Given the description of an element on the screen output the (x, y) to click on. 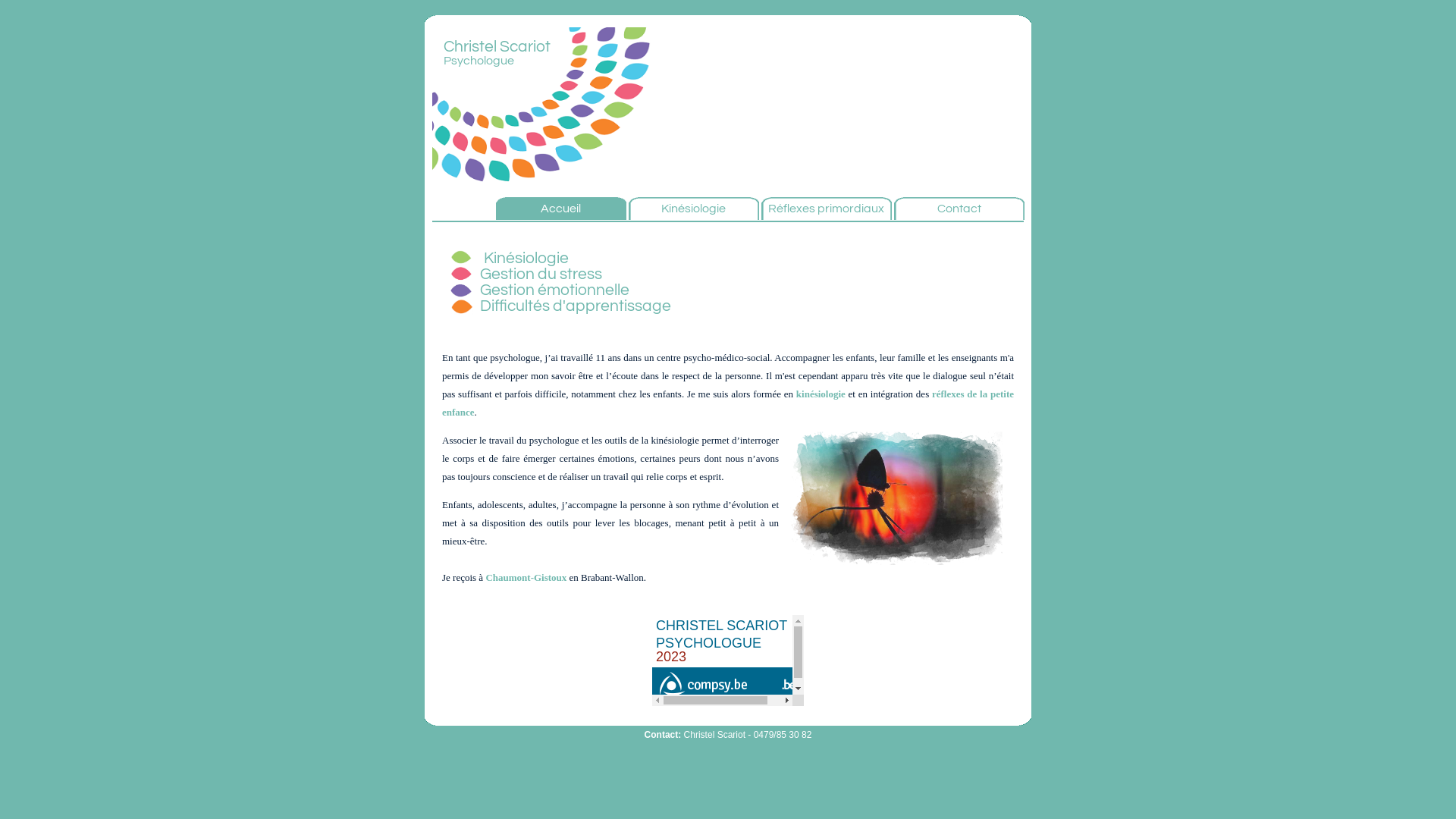
 Contact  Element type: text (958, 208)
Chaumont-Gistoux Element type: text (525, 577)
 Accueil  Element type: text (560, 208)
Contact: Element type: text (662, 734)
